Given the description of an element on the screen output the (x, y) to click on. 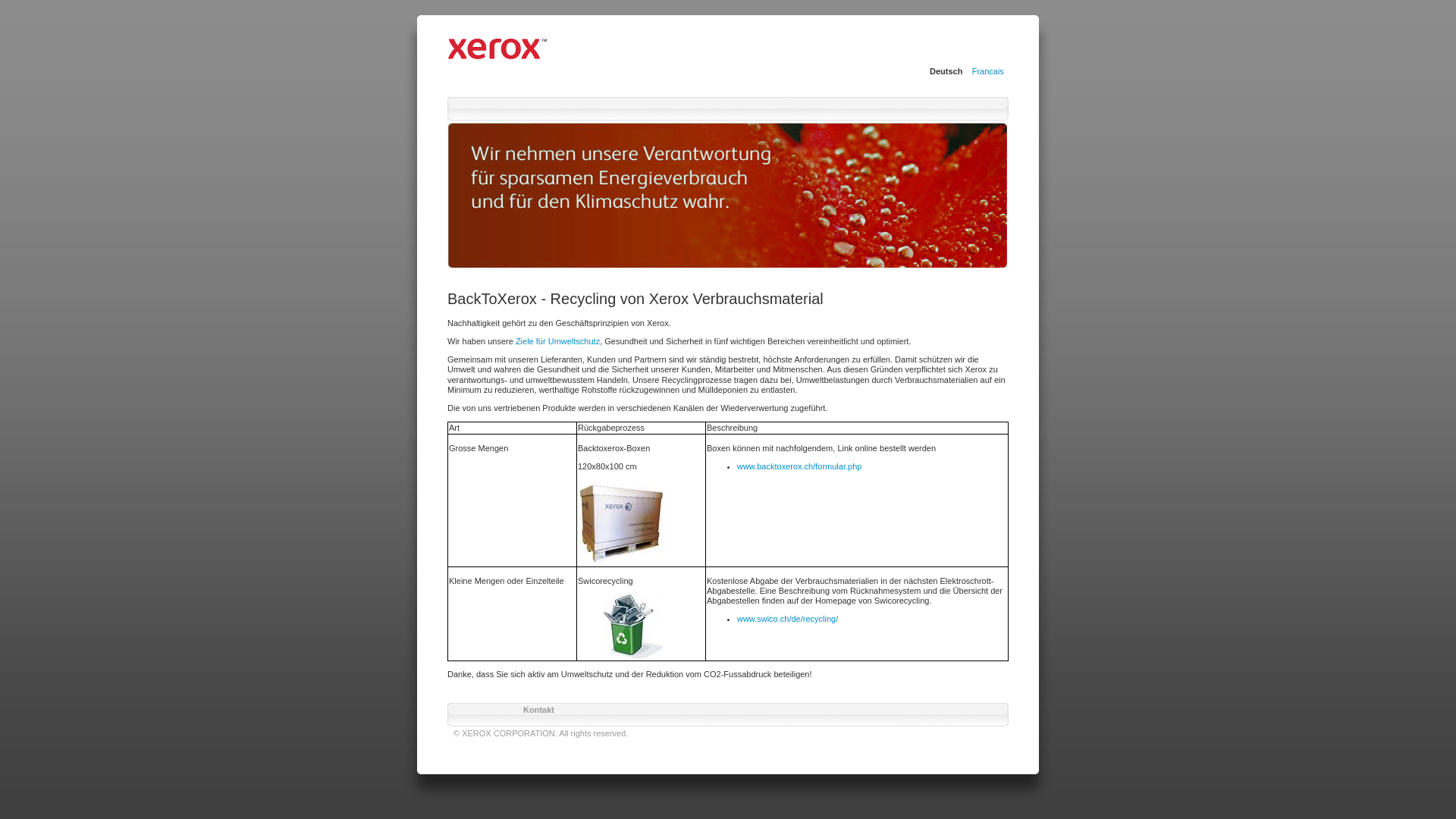
www.backtoxerox.ch/formular.php Element type: text (799, 465)
Kontakt Element type: text (538, 709)
Francais Element type: text (988, 70)
www.swico.ch/de/recycling/ Element type: text (787, 618)
